Given the description of an element on the screen output the (x, y) to click on. 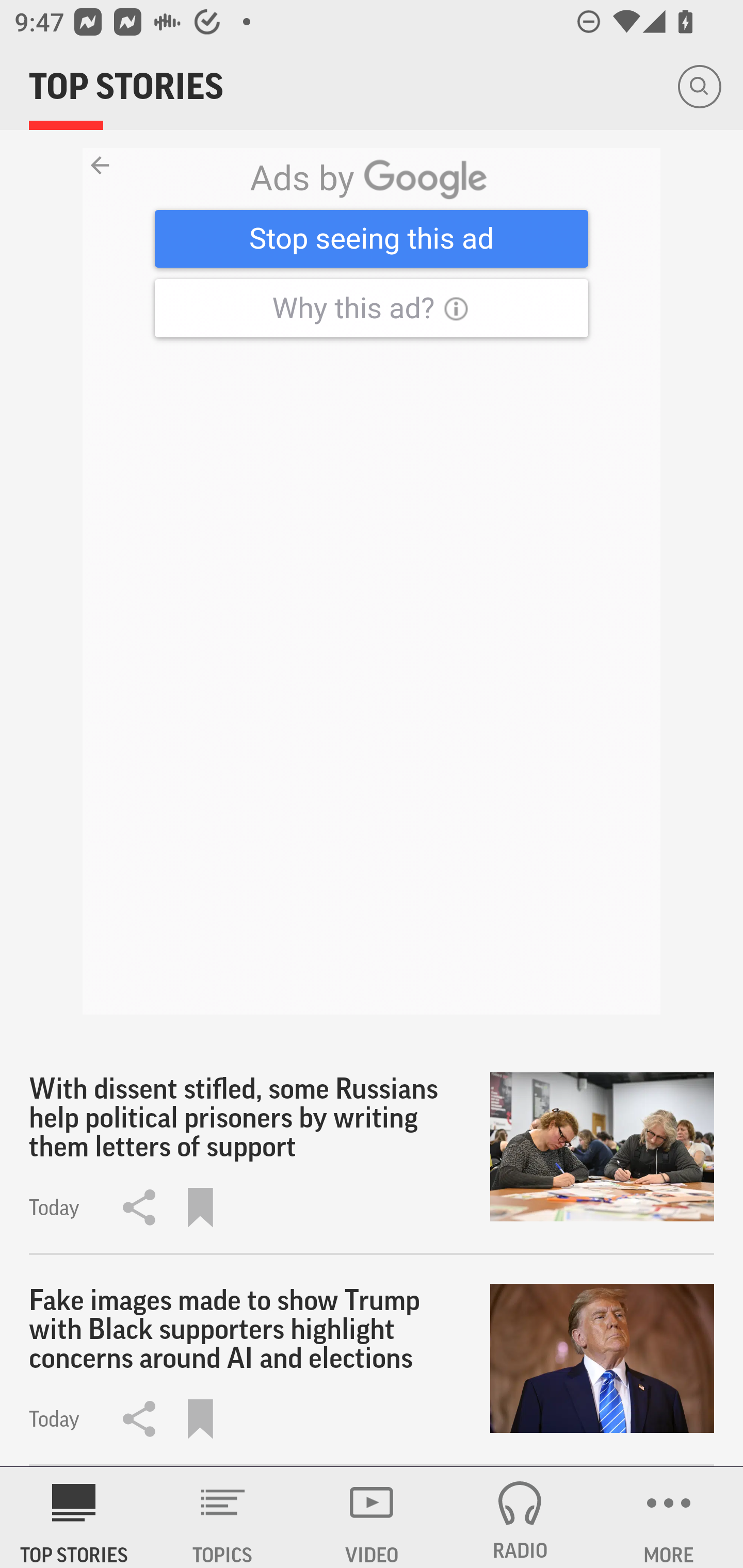
AP News TOP STORIES (74, 1517)
TOPICS (222, 1517)
VIDEO (371, 1517)
RADIO (519, 1517)
MORE (668, 1517)
